Given the description of an element on the screen output the (x, y) to click on. 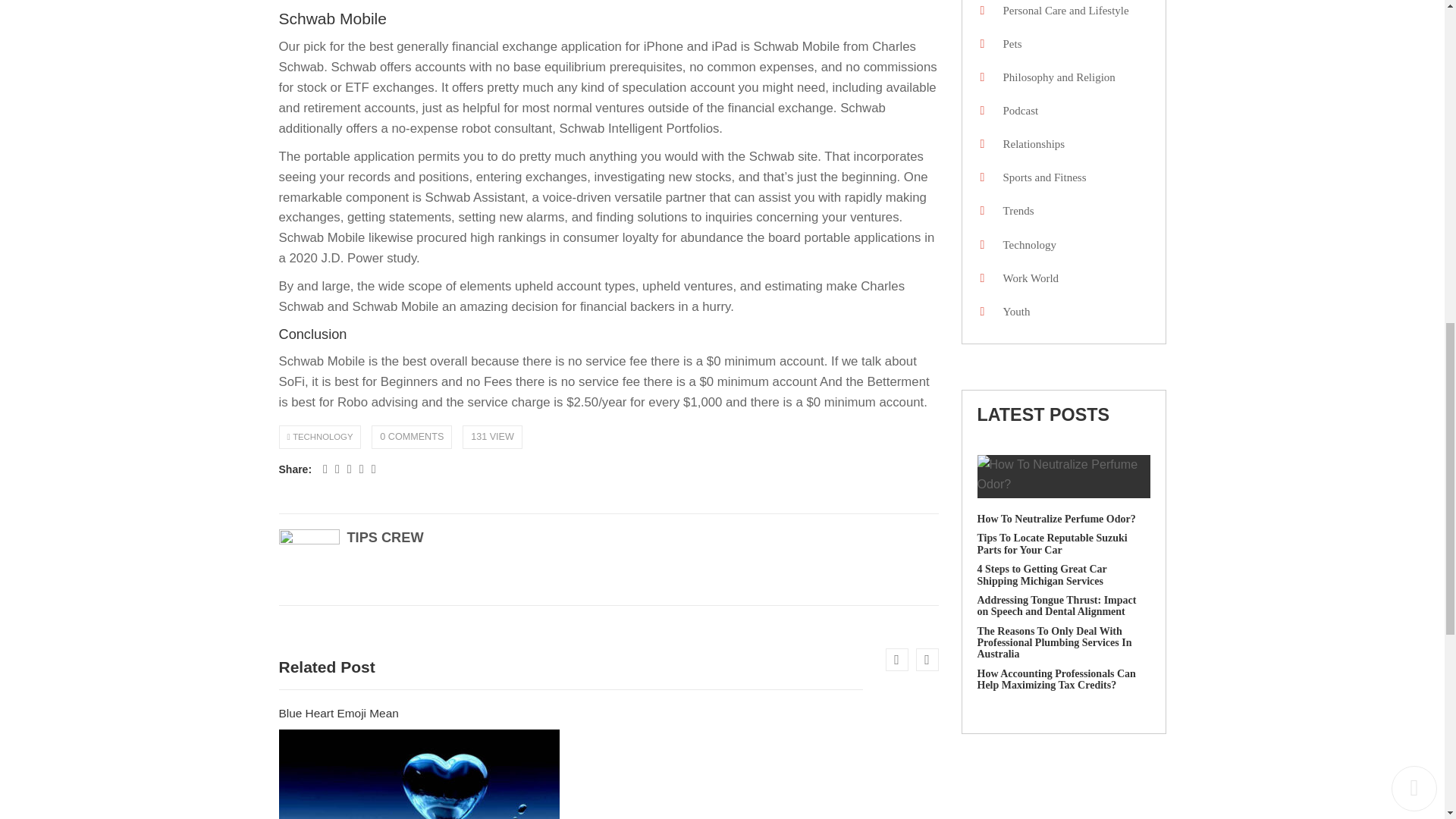
TIPS CREW (385, 537)
TECHNOLOGY (322, 436)
Blue Heart Emoji Mean (609, 774)
Blue Heart Emoji Mean (338, 712)
